Given the description of an element on the screen output the (x, y) to click on. 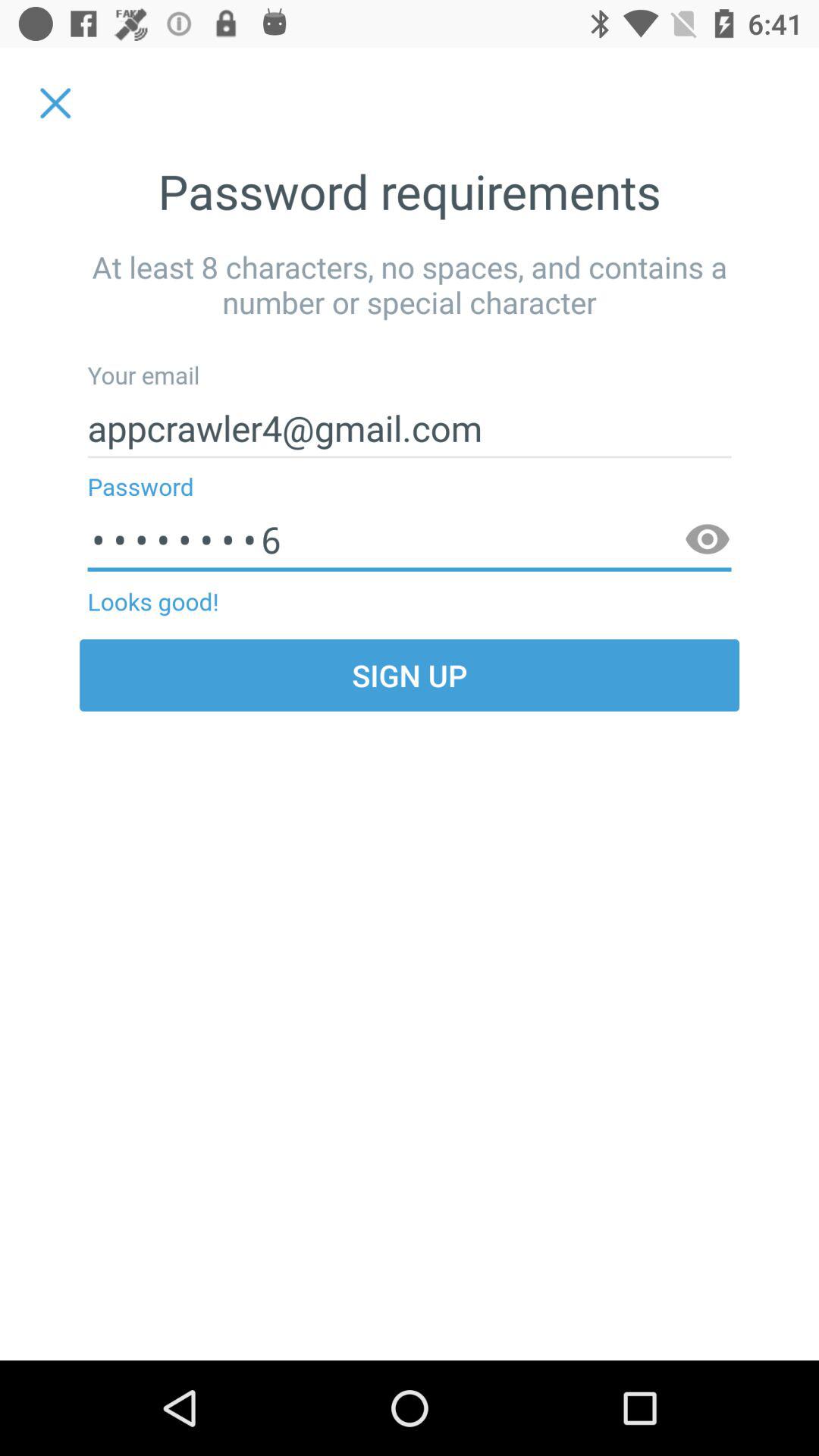
turn on icon below appcrawler4@gmail.com item (409, 540)
